Given the description of an element on the screen output the (x, y) to click on. 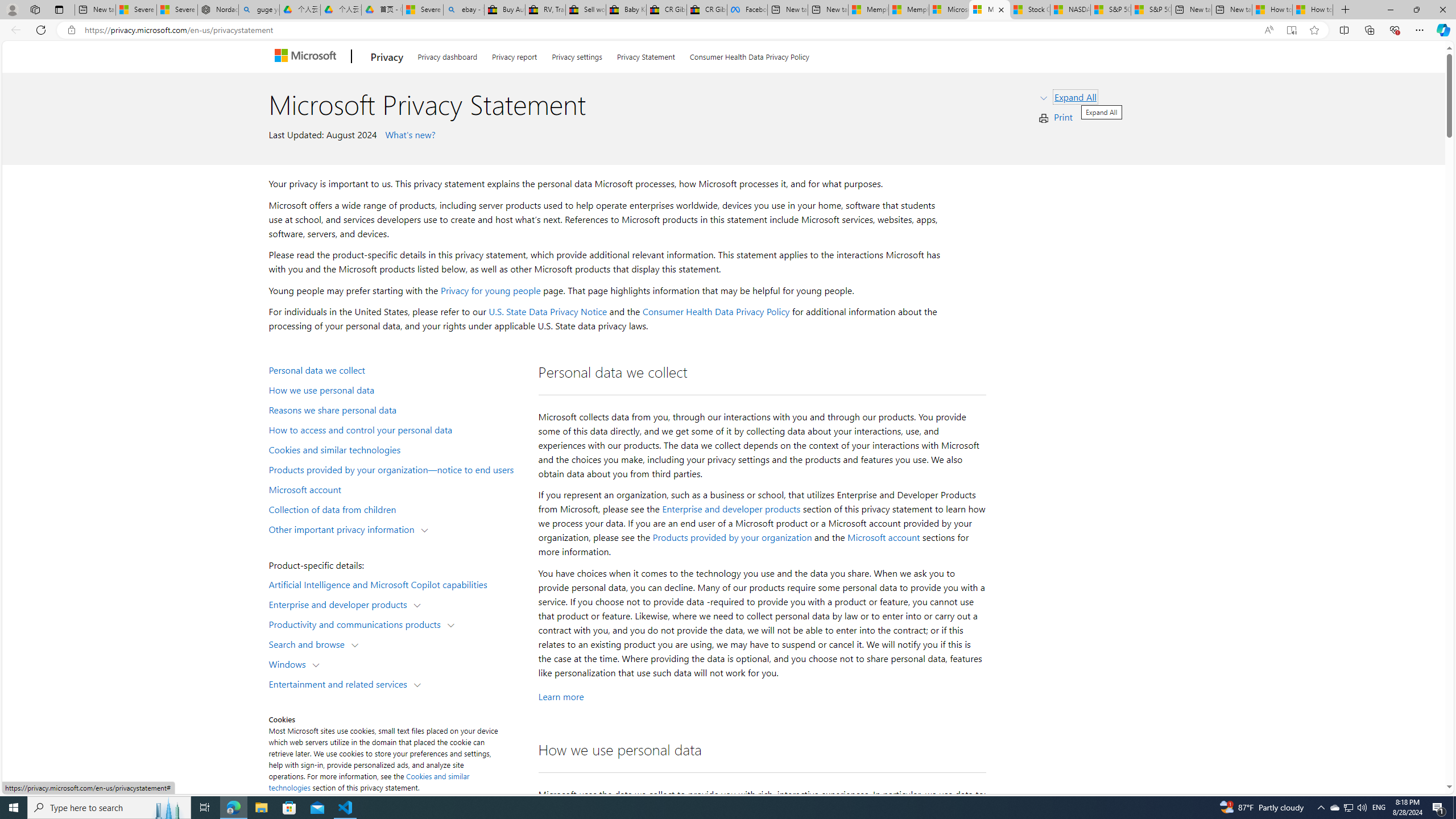
Microsoft (306, 56)
Consumer Health Data Privacy Policy (748, 54)
Reasons we share personal data (395, 409)
Privacy dashboard (447, 54)
How we use personal data (395, 389)
Windows (289, 663)
Privacy (386, 56)
Productivity and communications products (356, 623)
Privacy dashboard (447, 54)
Other important privacy information (343, 528)
